Given the description of an element on the screen output the (x, y) to click on. 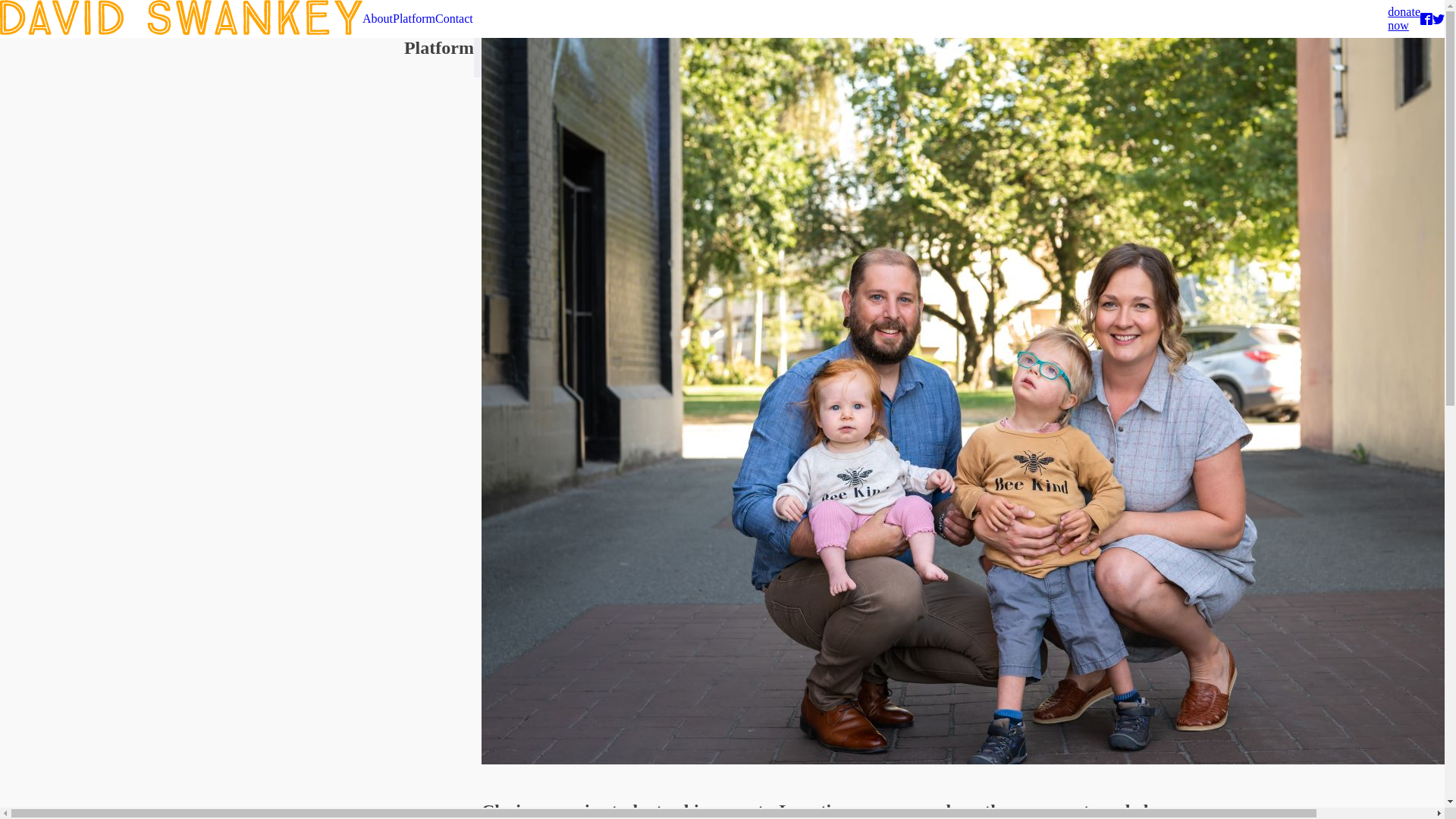
Contact (454, 18)
About (1404, 18)
Platform (377, 18)
